Given the description of an element on the screen output the (x, y) to click on. 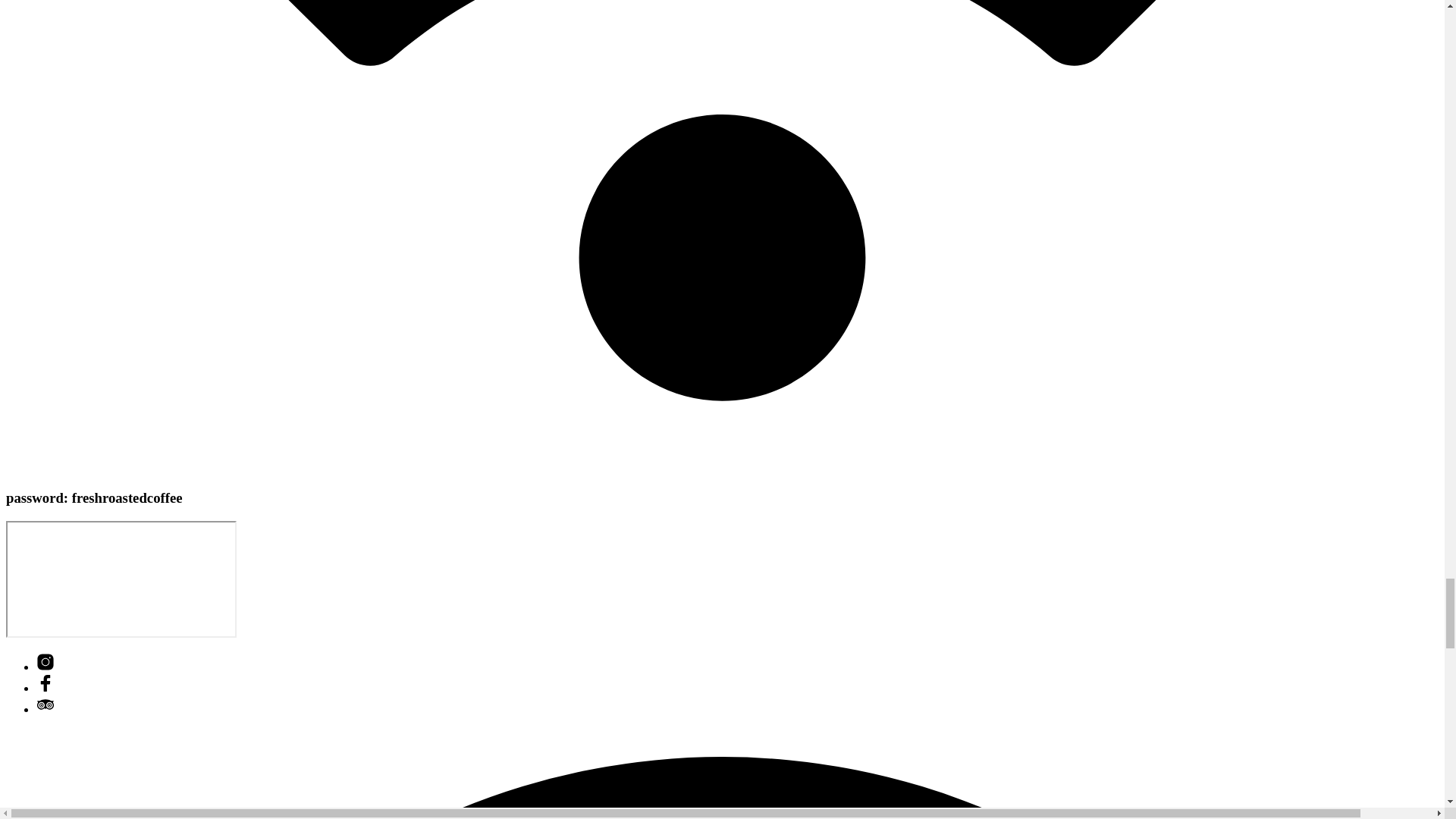
Facebook (45, 687)
Instagram (45, 666)
TripAdvisor (45, 708)
